Given the description of an element on the screen output the (x, y) to click on. 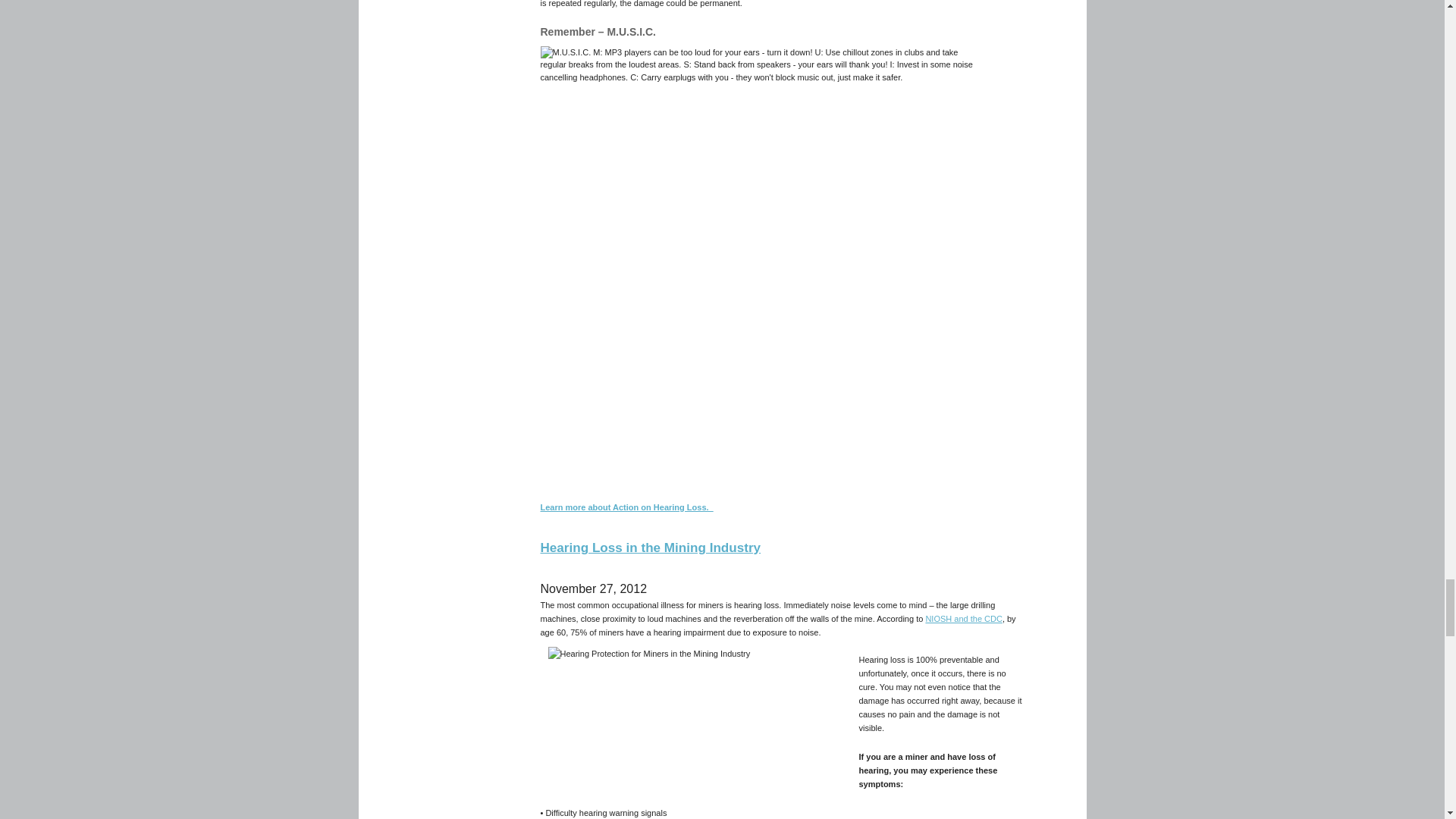
Hearing Protection for Miners in the Mining Industry (698, 712)
